Given the description of an element on the screen output the (x, y) to click on. 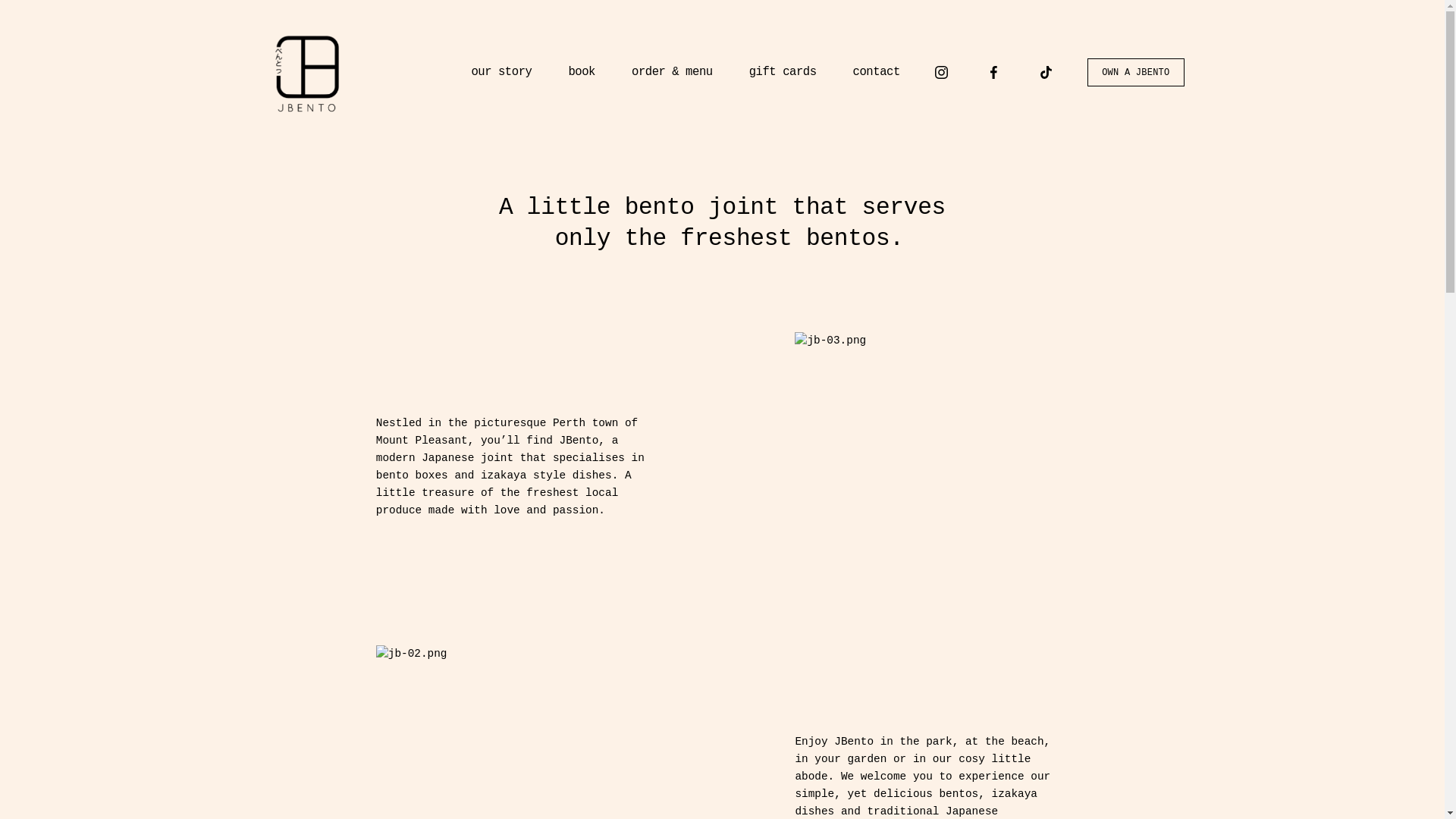
our story Element type: text (500, 72)
gift cards Element type: text (782, 72)
contact Element type: text (876, 72)
OWN A JBENTO Element type: text (1135, 72)
book Element type: text (581, 72)
order & menu Element type: text (671, 72)
